Given the description of an element on the screen output the (x, y) to click on. 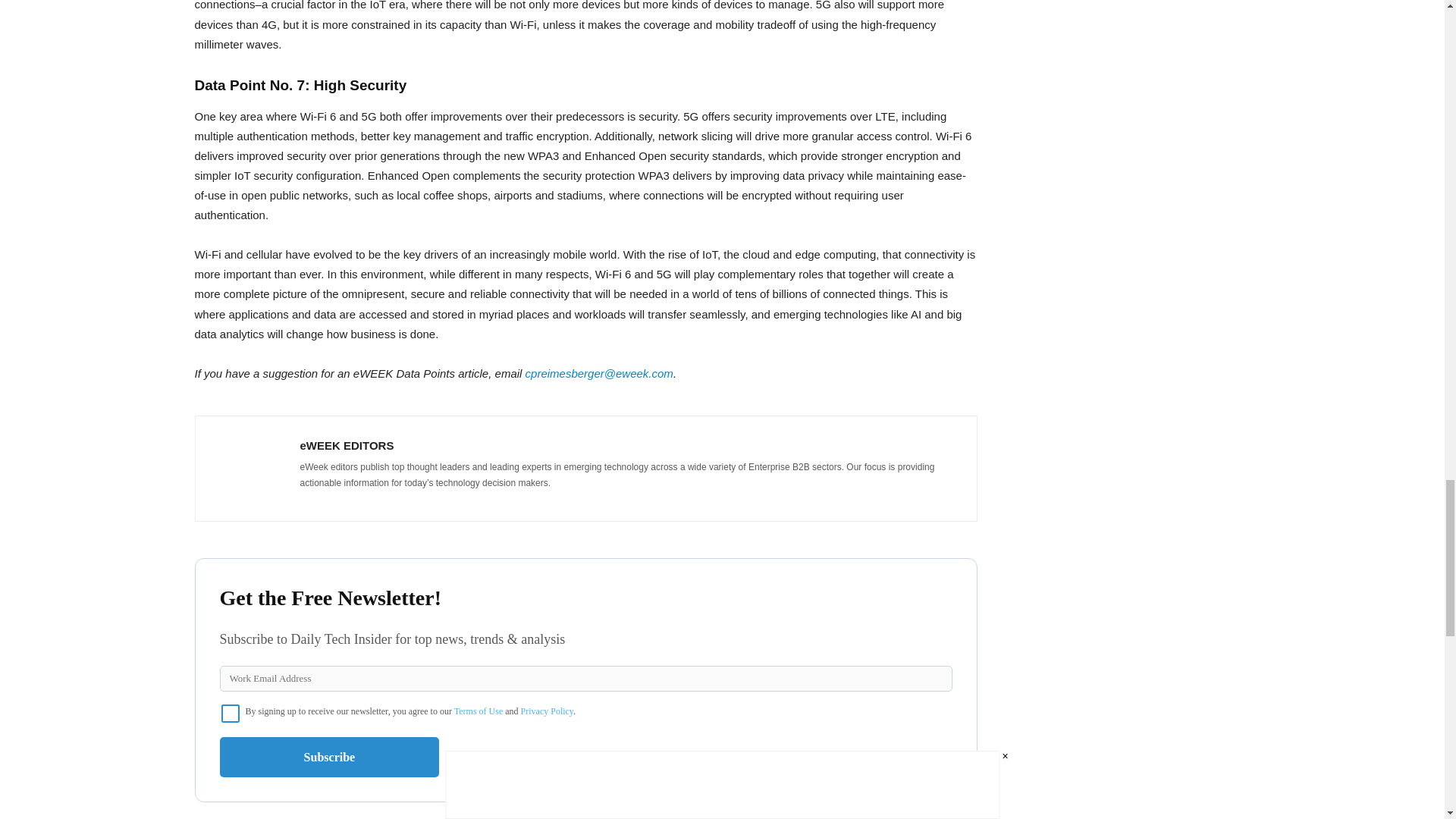
on (230, 713)
